Given the description of an element on the screen output the (x, y) to click on. 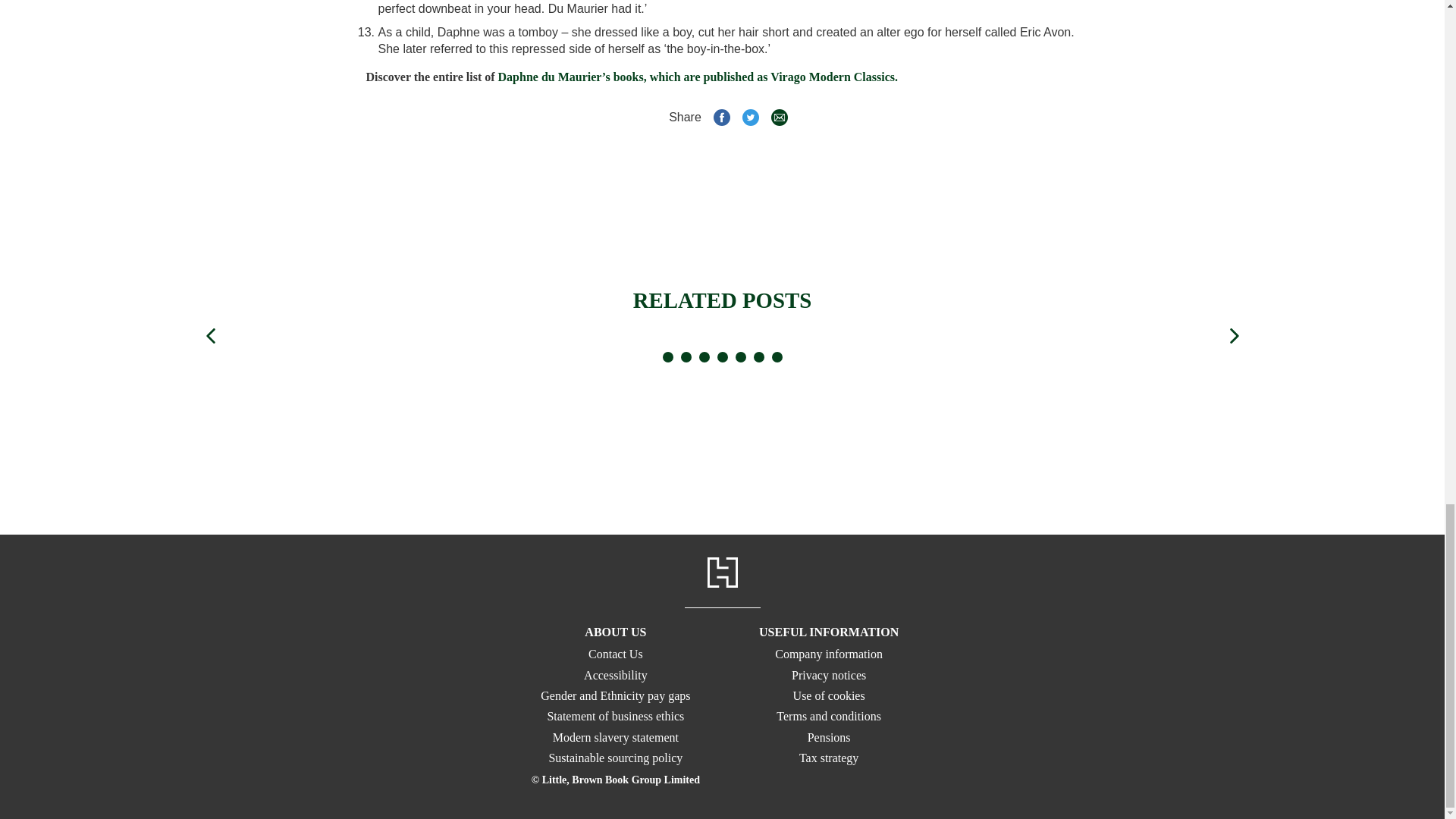
Left Arrow Left arrow icon (209, 335)
Hachette Logo Large H Initial (721, 572)
Right Arrow Right arrow icon (1233, 335)
